Given the description of an element on the screen output the (x, y) to click on. 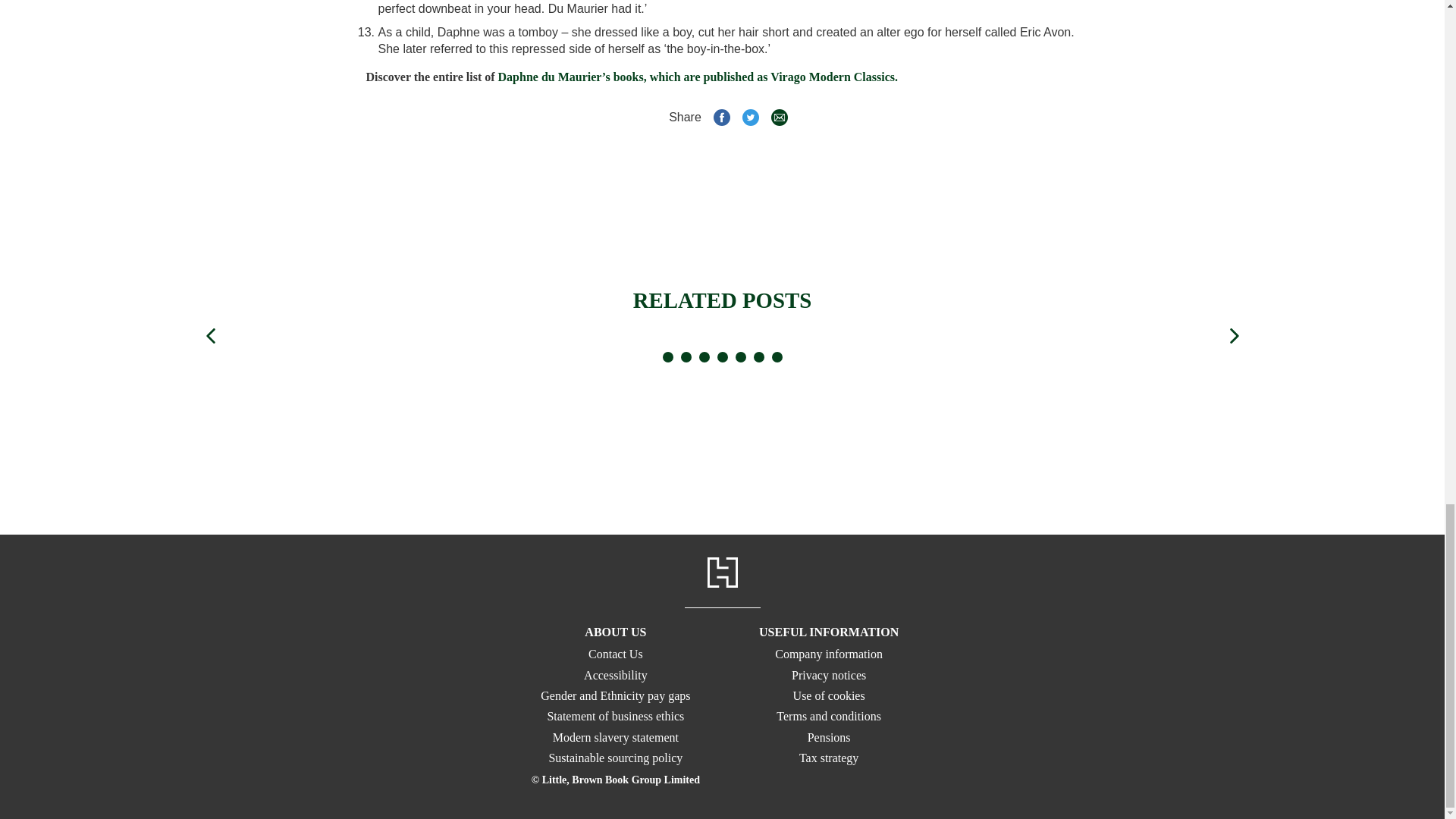
Left Arrow Left arrow icon (209, 335)
Hachette Logo Large H Initial (721, 572)
Right Arrow Right arrow icon (1233, 335)
